Given the description of an element on the screen output the (x, y) to click on. 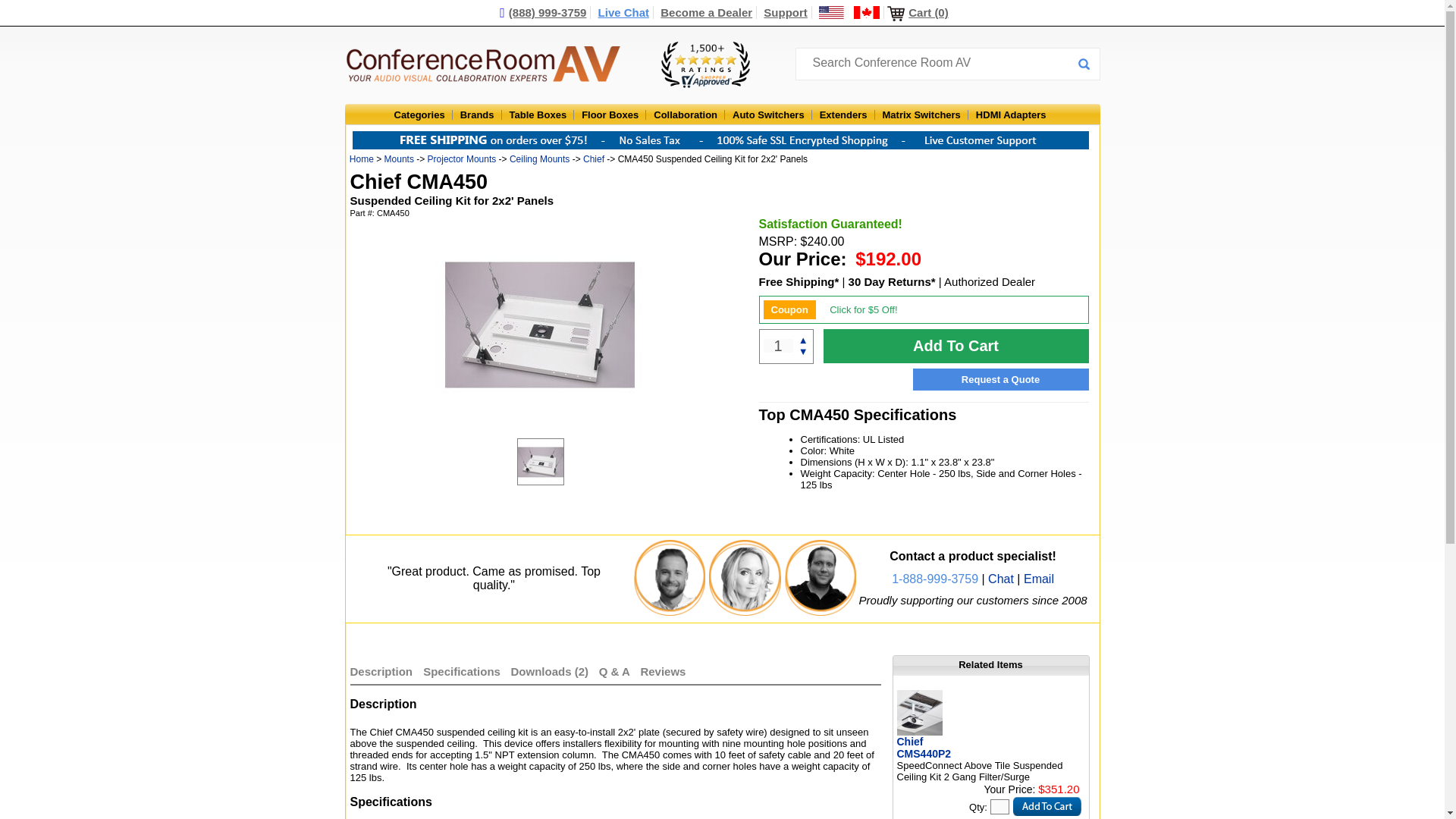
Collaboration (685, 114)
Auto Switchers (768, 114)
Matrix Switchers (921, 114)
Ceiling Mounts (539, 158)
Request a Quote (1000, 378)
Specifications (461, 671)
Chat (1000, 578)
Projector Mounts (462, 158)
Mounts (398, 158)
Email (1038, 578)
HDMI Adapters (1010, 114)
Chief (593, 158)
Brands (477, 114)
1 (777, 345)
Description (381, 671)
